Given the description of an element on the screen output the (x, y) to click on. 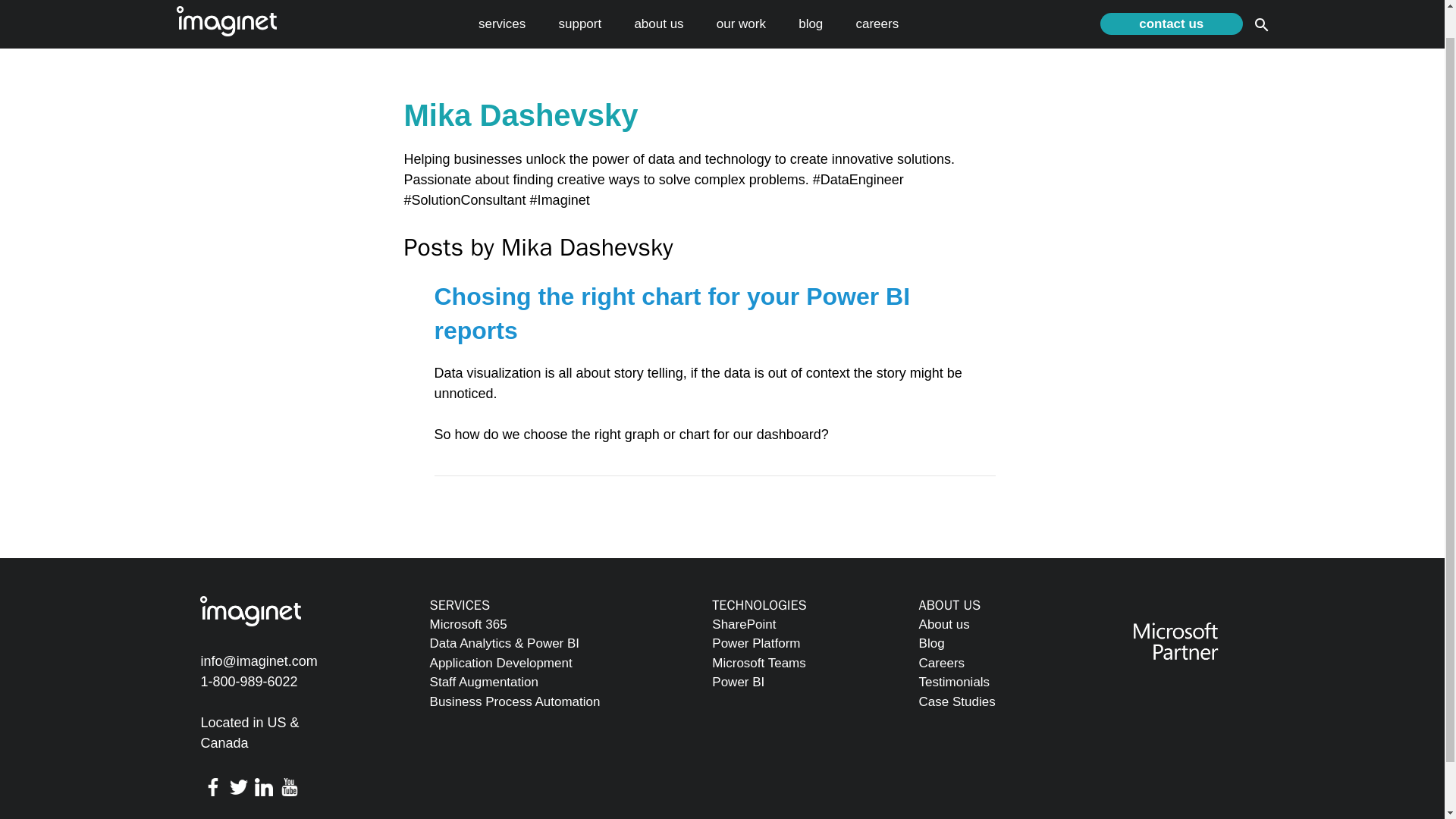
about us (657, 0)
support (579, 0)
contact us (1170, 2)
careers (877, 0)
services (502, 0)
our work (740, 0)
